Given the description of an element on the screen output the (x, y) to click on. 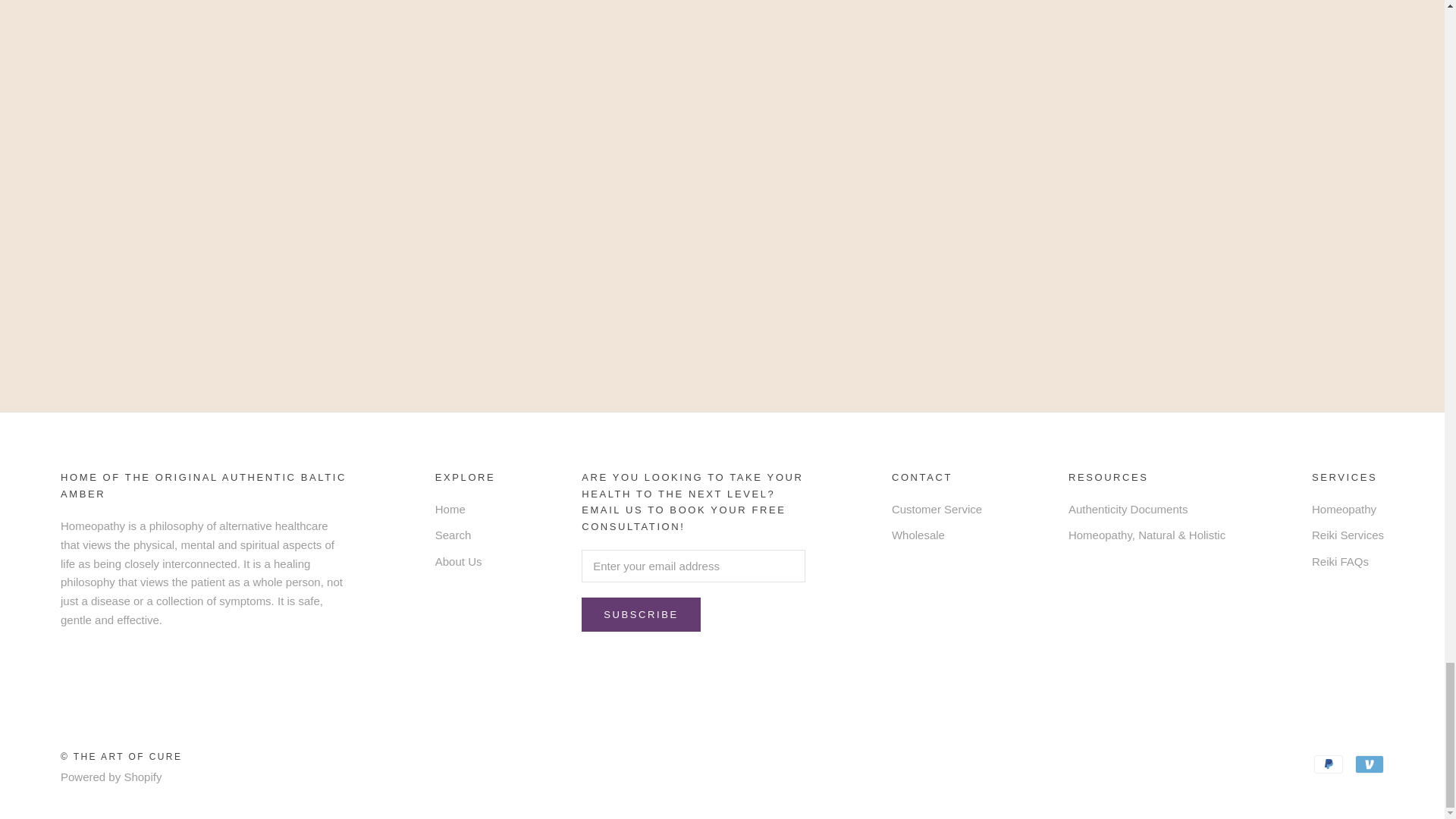
Venmo (1369, 764)
PayPal (1328, 764)
